Given the description of an element on the screen output the (x, y) to click on. 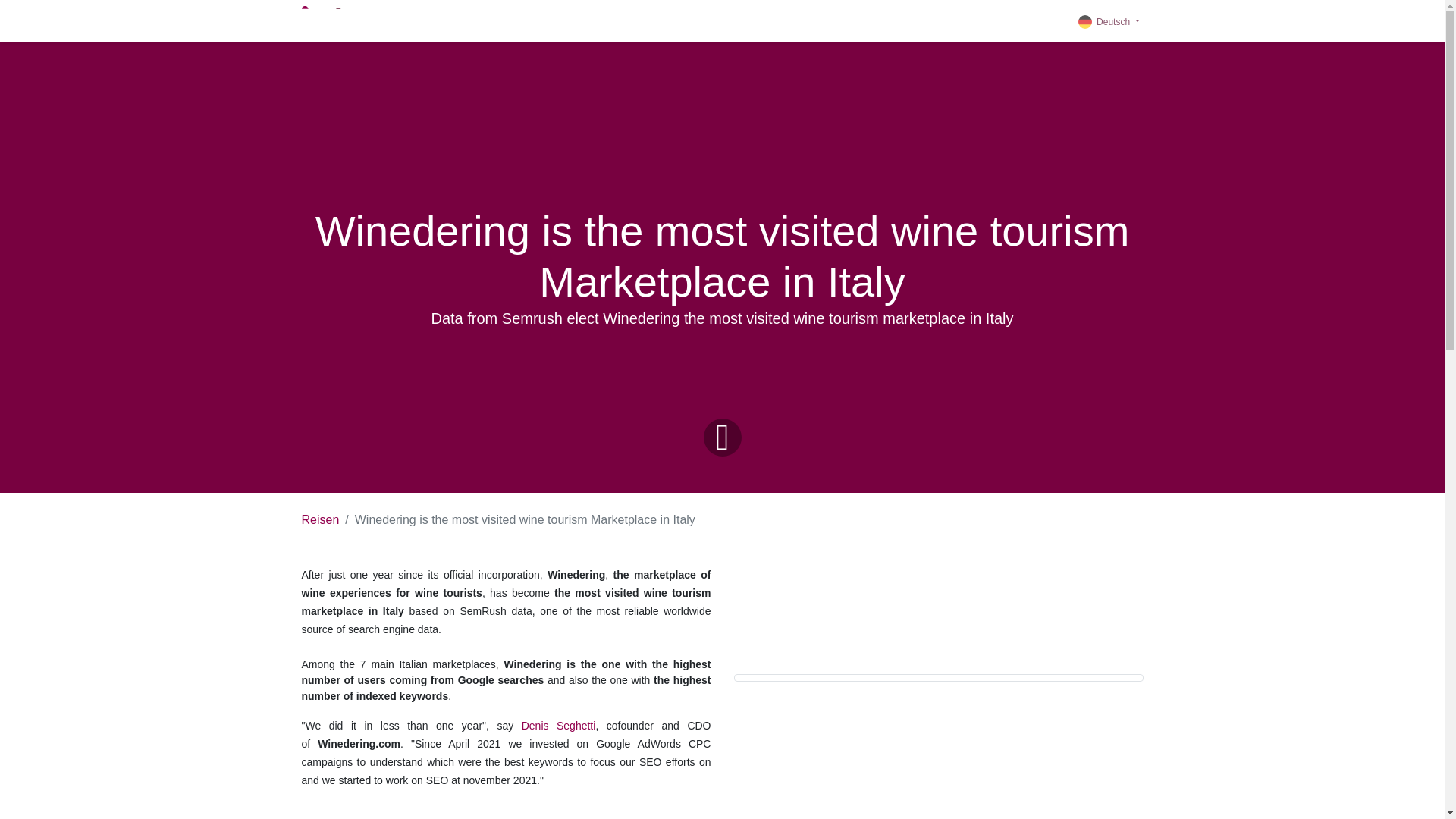
Denis Seghetti (558, 725)
Reisen (320, 519)
Winedering Business (346, 20)
Deutsch (1108, 21)
